Given the description of an element on the screen output the (x, y) to click on. 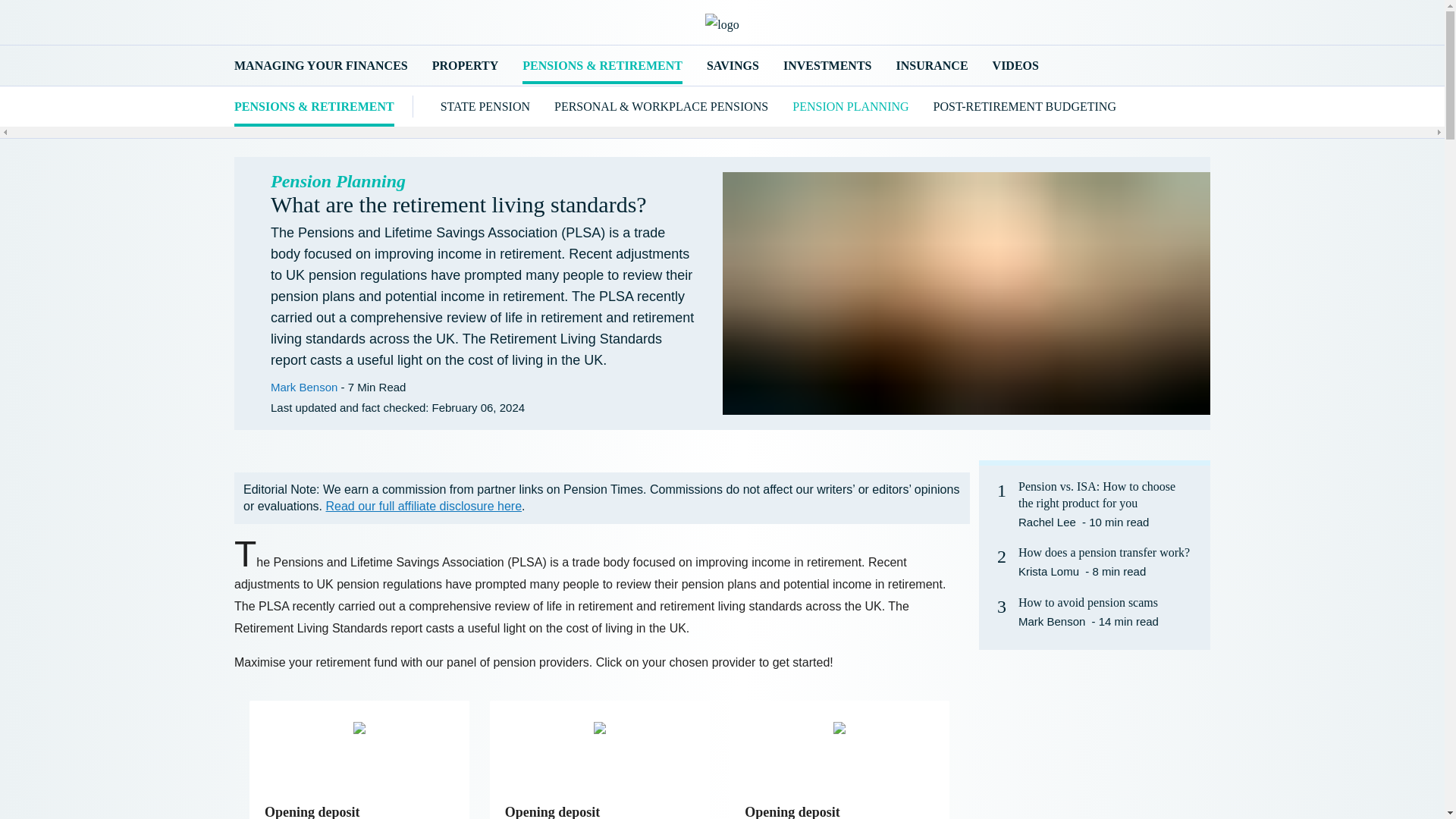
How does a pension transfer work? (1103, 552)
Pension vs. ISA: How to choose the right product for you (1104, 494)
SAVINGS (732, 65)
VIDEOS (1015, 65)
How to avoid pension scams (1087, 602)
Krista Lomu (1047, 571)
Read our full affiliate disclosure here (424, 505)
MANAGING YOUR FINANCES (320, 65)
Rachel Lee (1046, 521)
PENSION PLANNING (850, 106)
Mark Benson (1050, 621)
STATE PENSION (485, 106)
INSURANCE (931, 65)
Mark Benson (303, 386)
PROPERTY (464, 65)
